Given the description of an element on the screen output the (x, y) to click on. 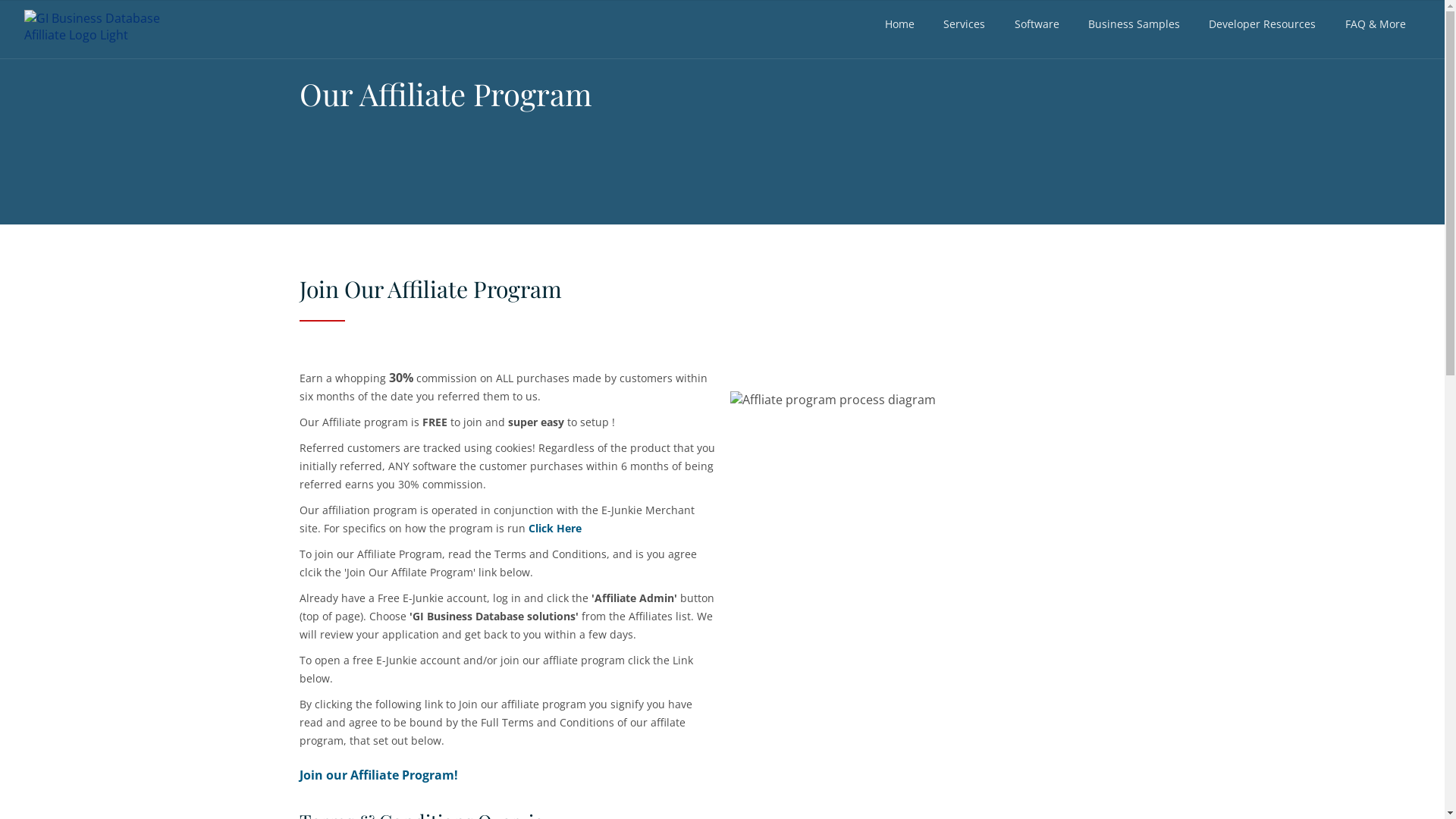
Business Samples Element type: text (1133, 23)
Home Element type: text (899, 23)
Click Here Element type: text (553, 527)
Software Element type: text (1036, 23)
Services Element type: text (963, 23)
Developer Resources Element type: text (1262, 23)
FAQ & More Element type: text (1375, 23)
Join our Affiliate Program! Element type: text (377, 774)
